Given the description of an element on the screen output the (x, y) to click on. 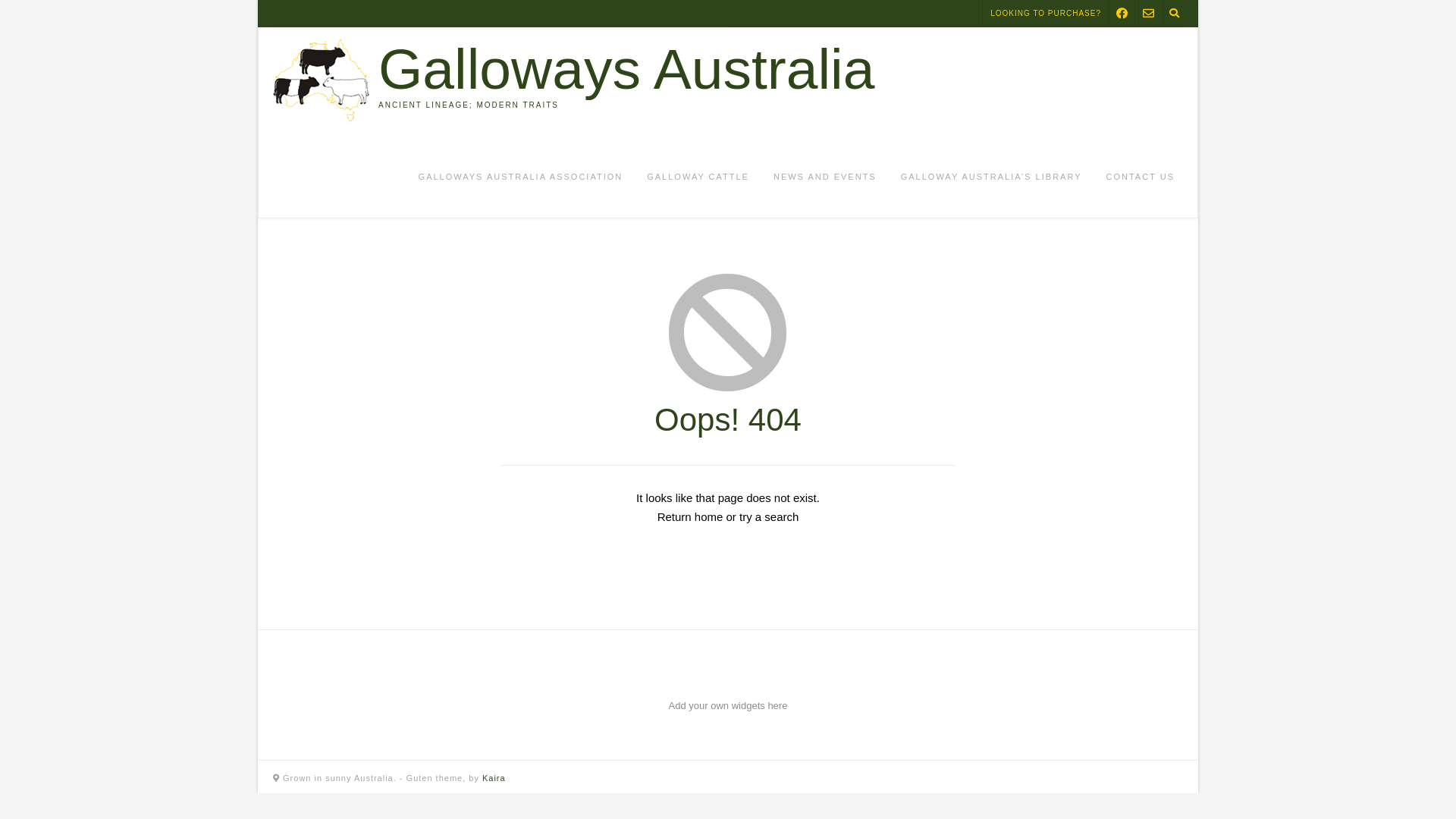
CONTACT US Element type: text (1139, 177)
Find Us on Facebook Element type: hover (1121, 13)
NEWS AND EVENTS Element type: text (824, 177)
Galloways Australia Element type: text (626, 68)
Send Us an Email Element type: hover (1148, 13)
GALLOWAY CATTLE Element type: text (697, 177)
Kaira Element type: text (493, 777)
GALLOWAYS AUSTRALIA ASSOCIATION Element type: text (520, 177)
LOOKING TO PURCHASE? Element type: text (1045, 13)
